Given the description of an element on the screen output the (x, y) to click on. 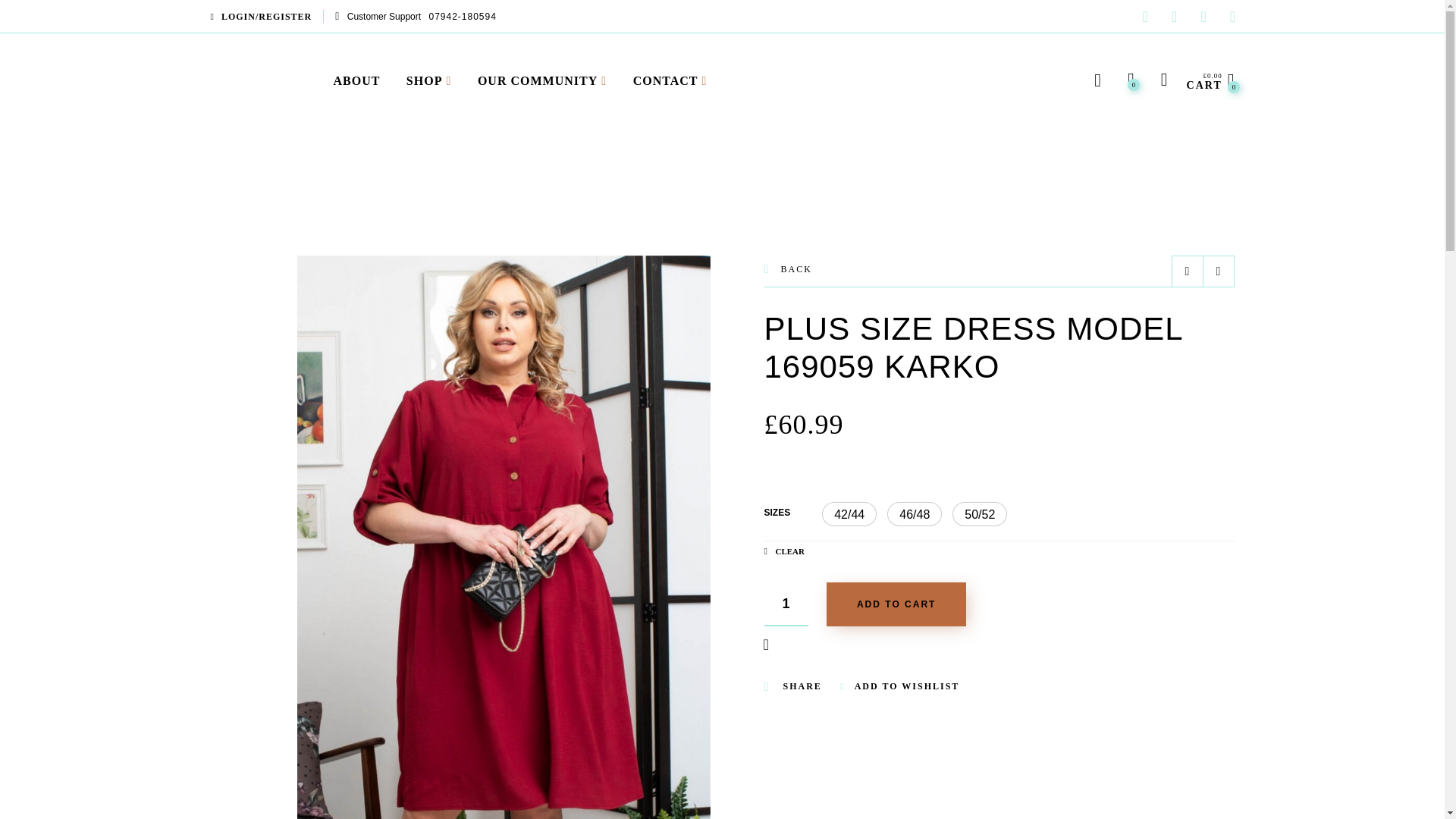
Facebook (1174, 17)
Pinterest (1203, 17)
Twitter (1144, 17)
SHOP (424, 80)
WhatsApp (1232, 17)
CONTACT (665, 80)
ABOUT (361, 80)
BACK (788, 270)
1 (786, 604)
OUR COMMUNITY (536, 80)
